Given the description of an element on the screen output the (x, y) to click on. 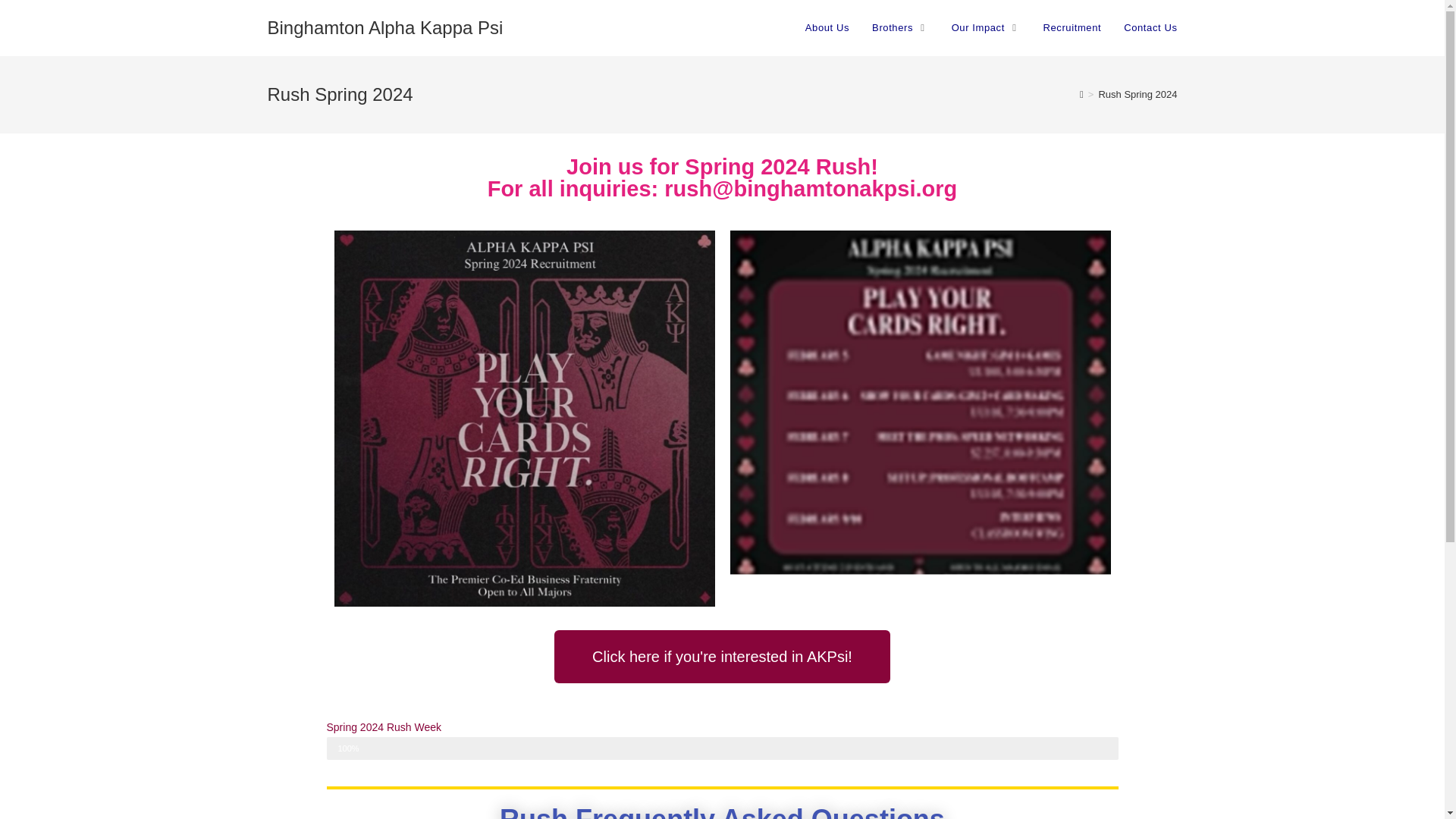
Our Impact (986, 28)
Click here if you're interested in AKPsi! (721, 656)
Recruitment (1071, 28)
Binghamton Alpha Kappa Psi (384, 27)
Brothers (900, 28)
Contact Us (1150, 28)
Rush Spring 2024 (1136, 93)
About Us (826, 28)
